Given the description of an element on the screen output the (x, y) to click on. 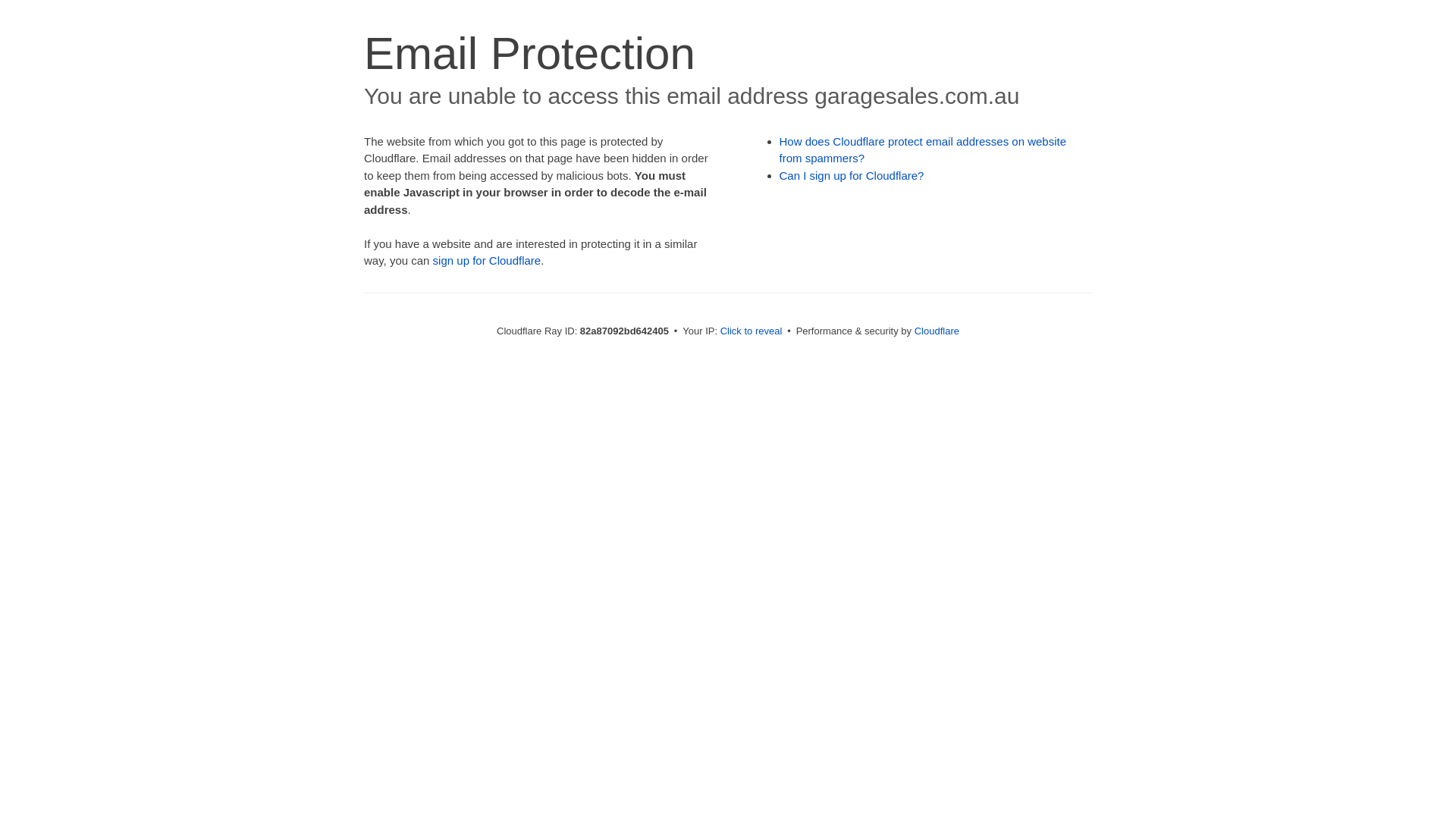
Cloudflare Element type: text (936, 330)
Click to reveal Element type: text (751, 330)
Can I sign up for Cloudflare? Element type: text (851, 175)
sign up for Cloudflare Element type: text (487, 260)
